Given the description of an element on the screen output the (x, y) to click on. 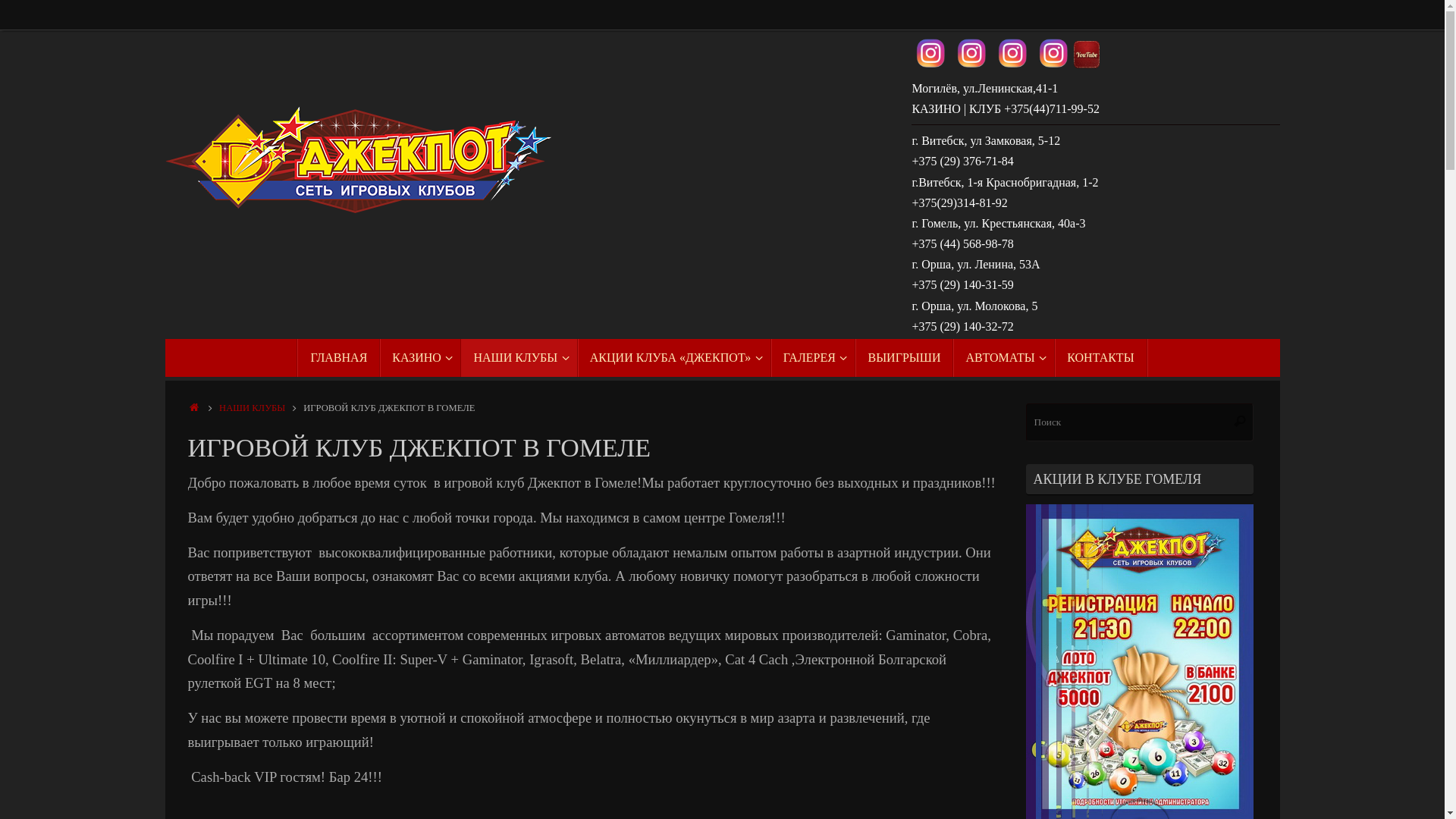
+375 (29) 140-32-72 Element type: text (962, 326)
+375(44)711-99-52 Element type: text (1050, 109)
YOUTUBE Element type: hover (1086, 54)
+375 (44) 568-98-78 Element type: text (962, 244)
+375 (29) 140-31-59 Element type: text (962, 285)
+375(29)314-81-92 Element type: text (959, 203)
+375 (29) 376-71-84 Element type: text (962, 161)
